Given the description of an element on the screen output the (x, y) to click on. 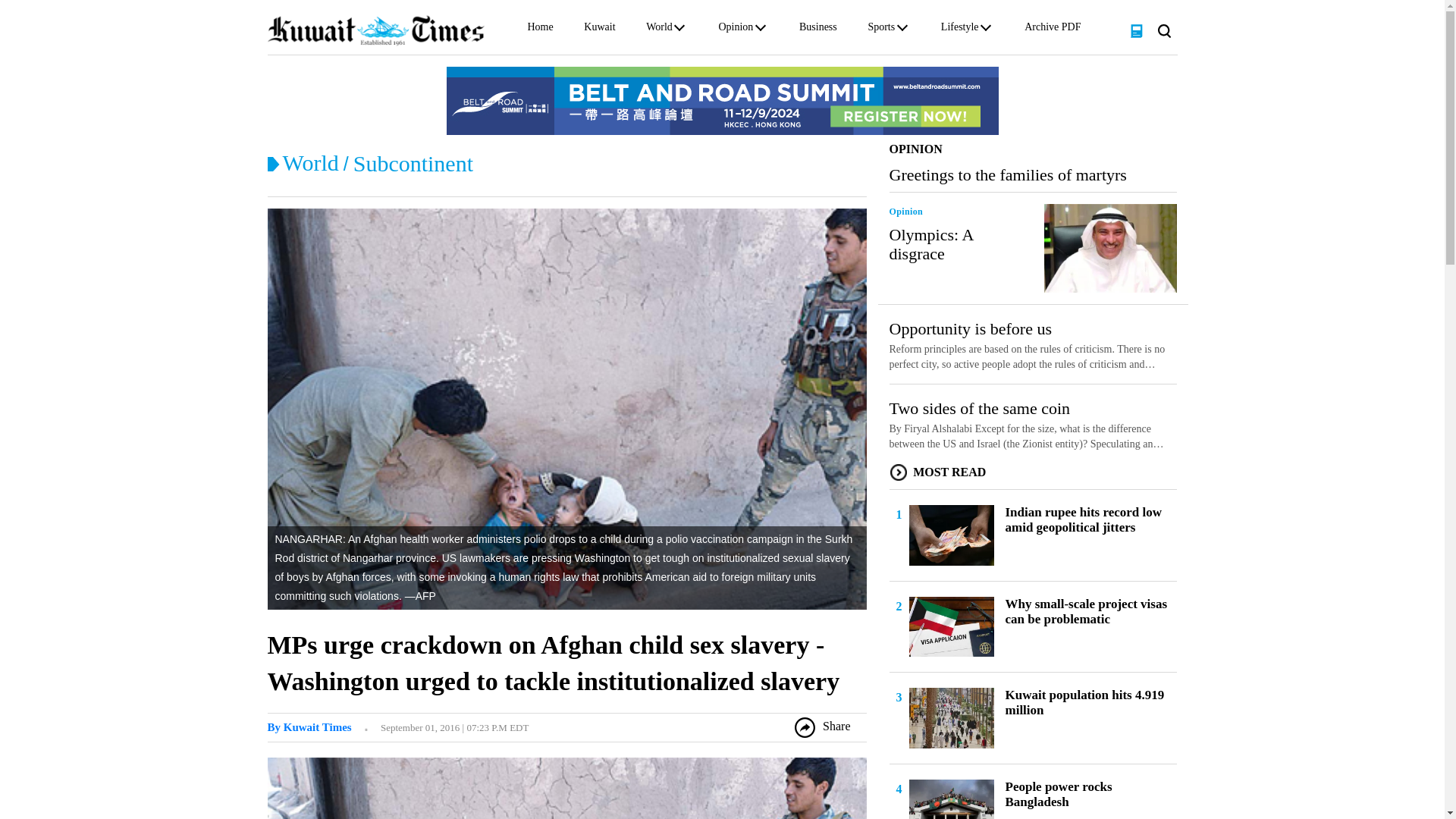
Kuwait (598, 29)
talal (308, 727)
pdf (1136, 29)
Archive PDF (1052, 29)
kuwaittimes.com (374, 29)
World (309, 162)
Business (818, 29)
Opinion (734, 29)
Sports (881, 29)
Home (540, 29)
